Given the description of an element on the screen output the (x, y) to click on. 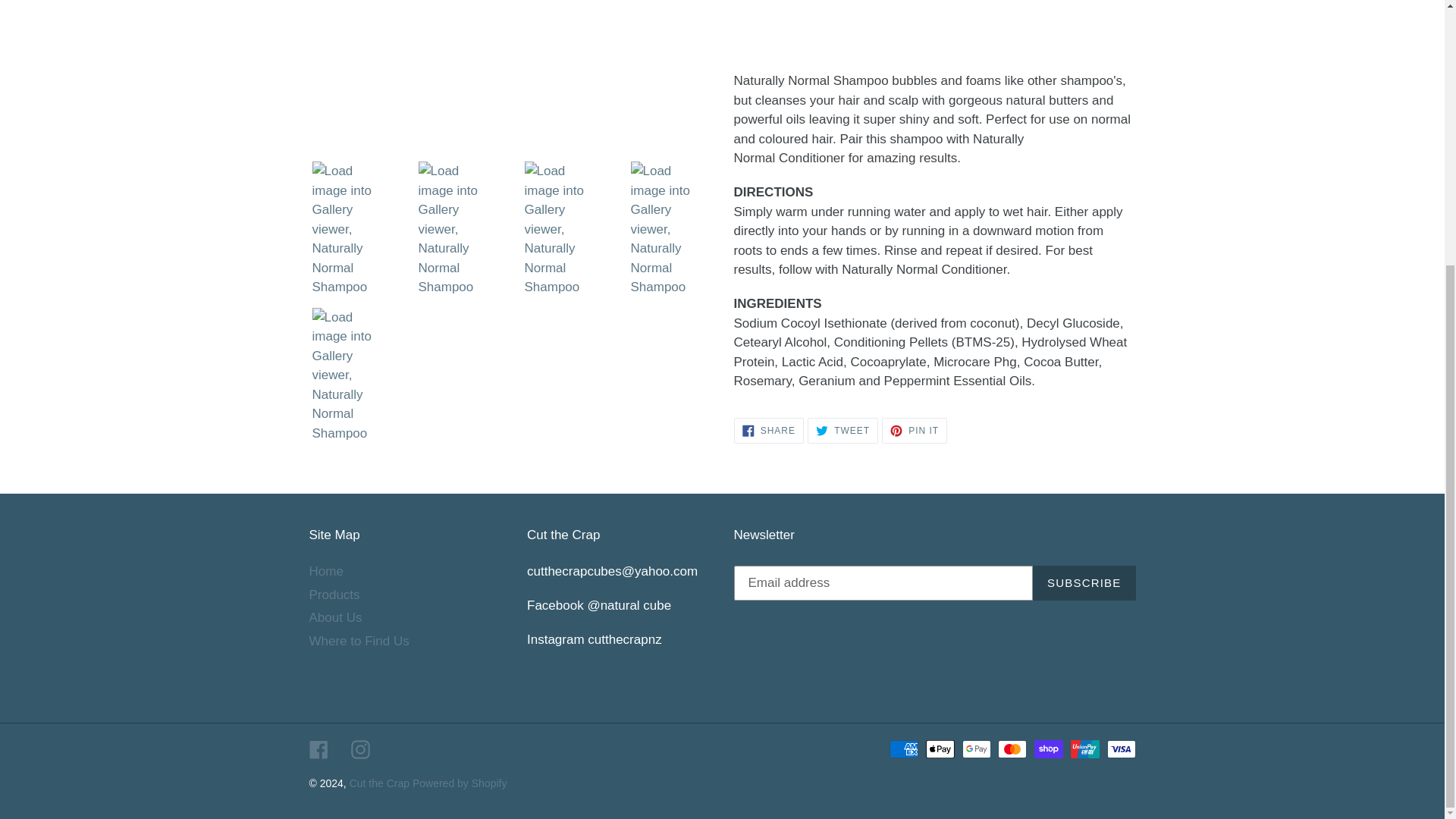
About Us (335, 617)
SUBSCRIBE (1083, 582)
Where to Find Us (358, 640)
Home (325, 571)
Instagram (359, 749)
Cut the Crap (380, 783)
Facebook (318, 749)
Products (768, 430)
